Given the description of an element on the screen output the (x, y) to click on. 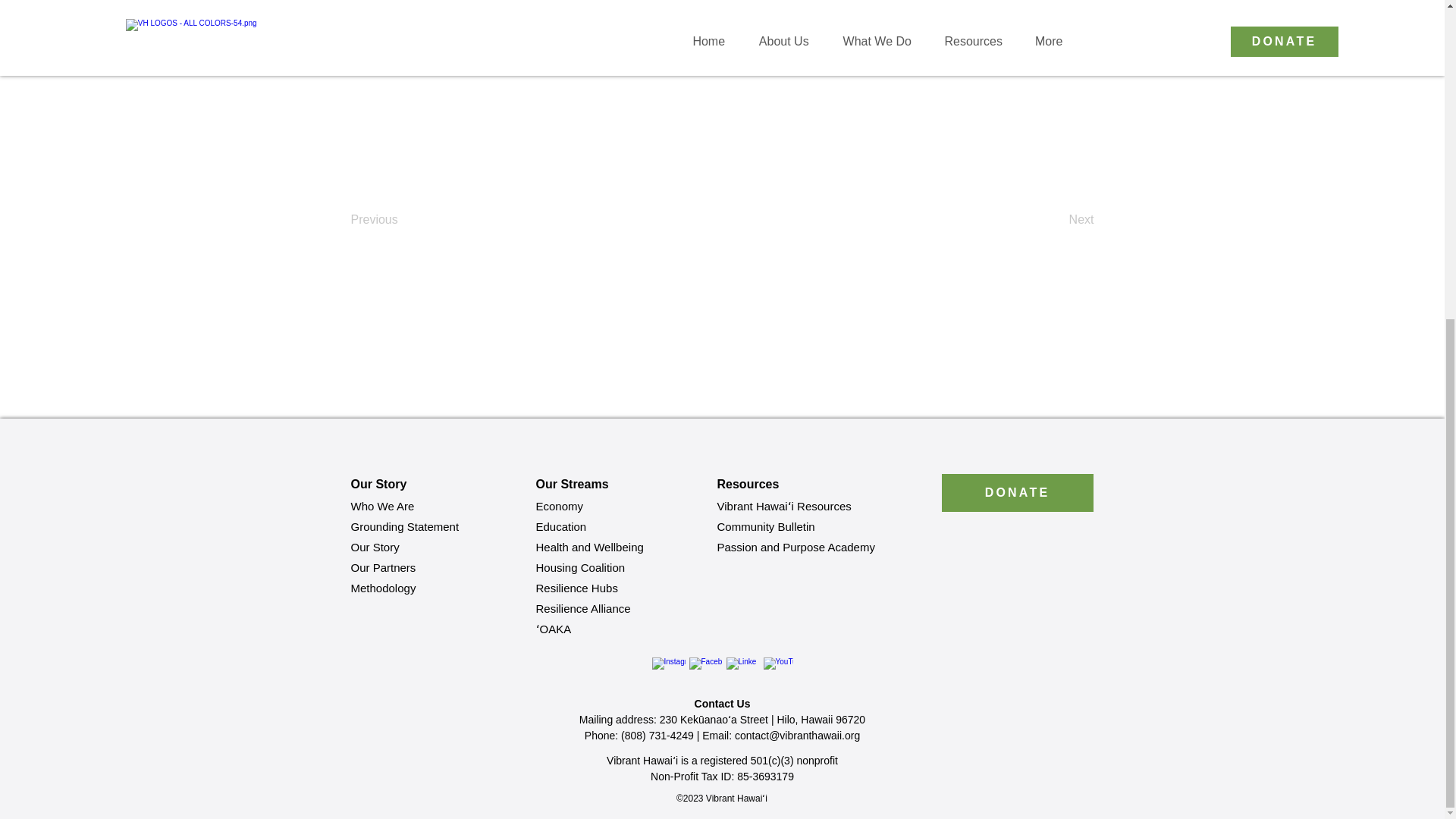
Resilience Hu (570, 587)
Health and Wellbeing (589, 546)
Next (1055, 219)
Our Partners (382, 567)
Housing Coalition (579, 567)
Our Story (374, 546)
Previous (399, 219)
Grounding Statement (404, 526)
Education (560, 526)
Who We Are (381, 505)
